Given the description of an element on the screen output the (x, y) to click on. 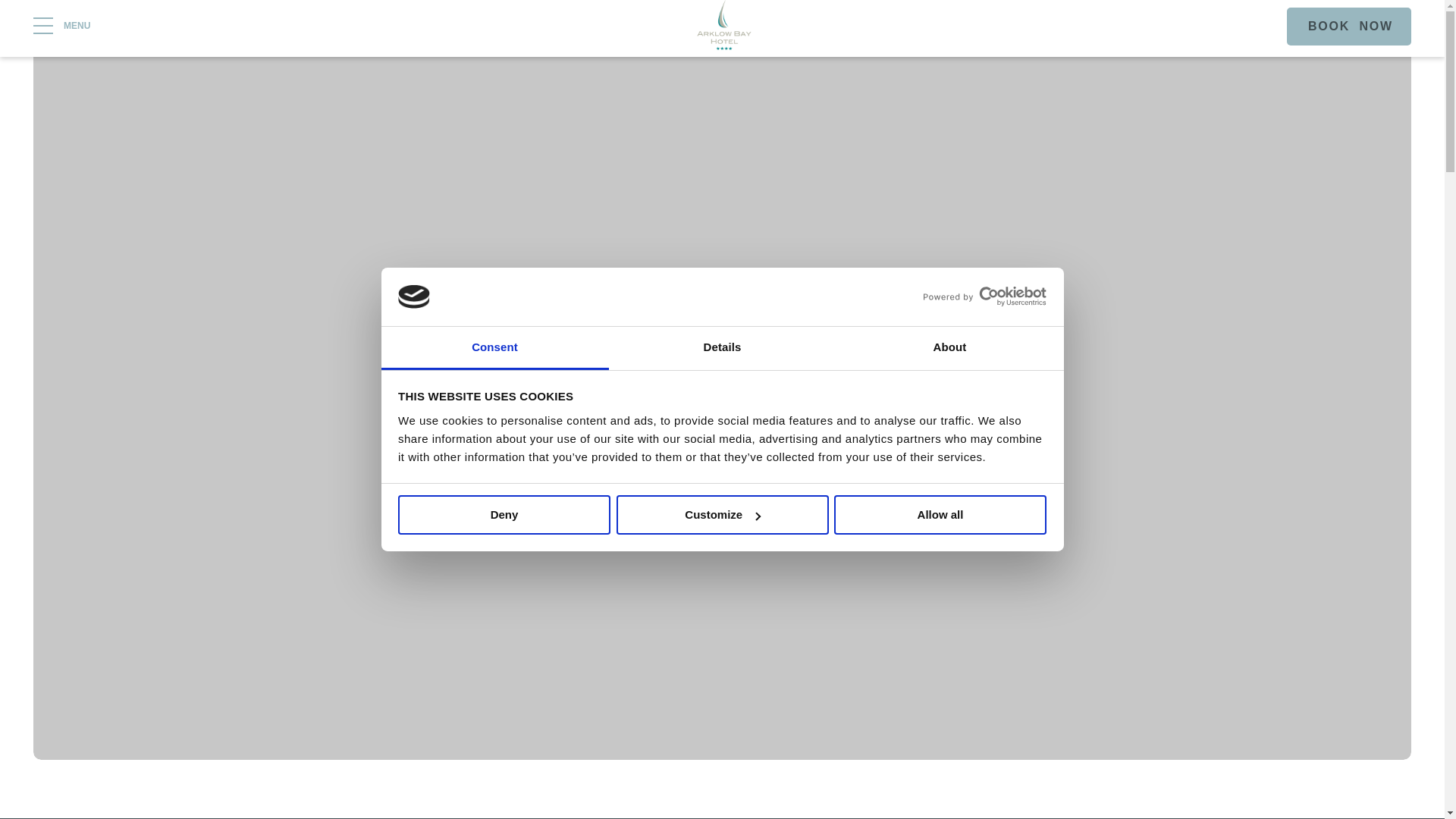
Consent (494, 348)
About (948, 348)
Details (721, 348)
